Given the description of an element on the screen output the (x, y) to click on. 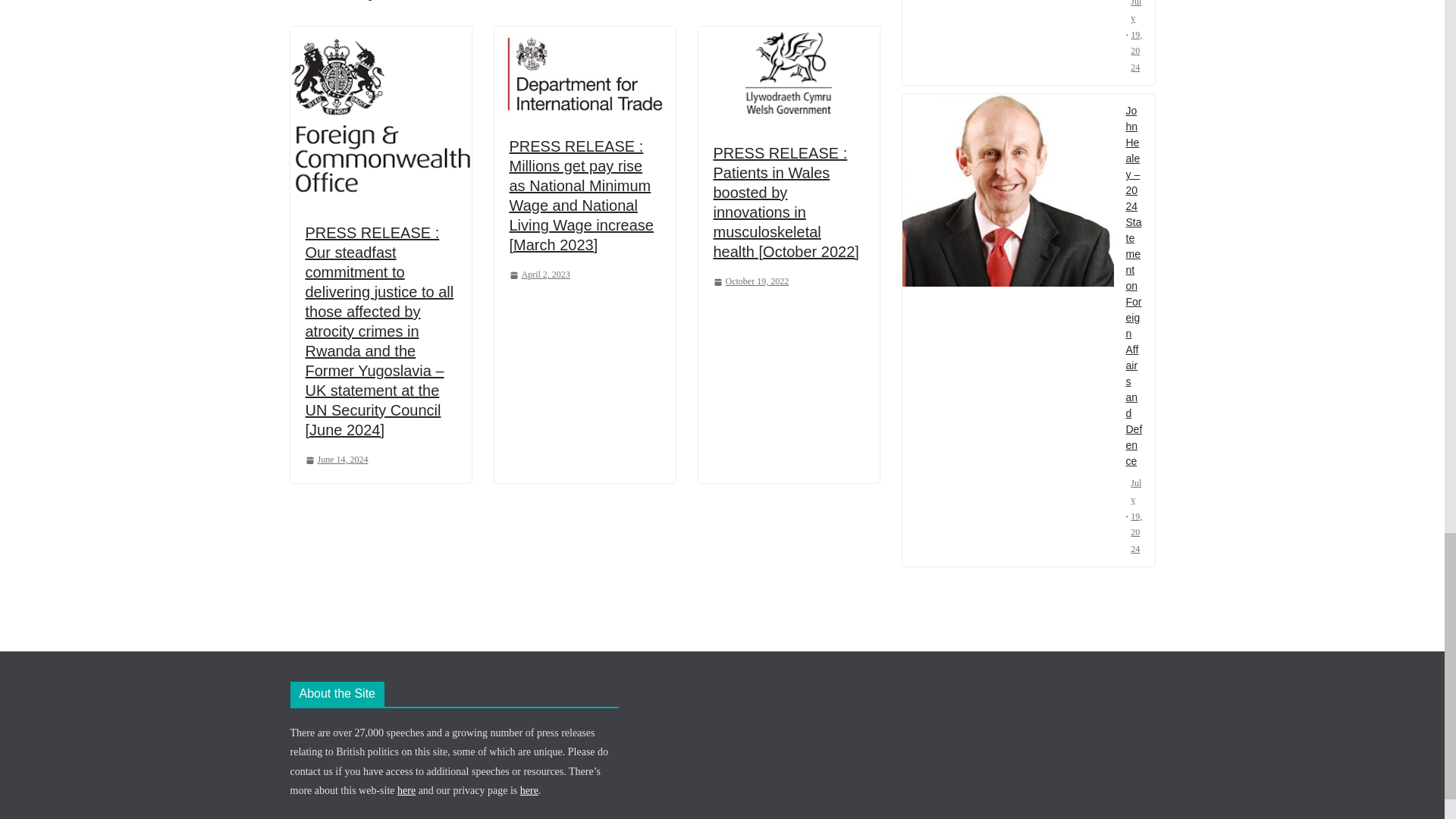
10:59 am (336, 460)
June 14, 2024 (336, 460)
